Given the description of an element on the screen output the (x, y) to click on. 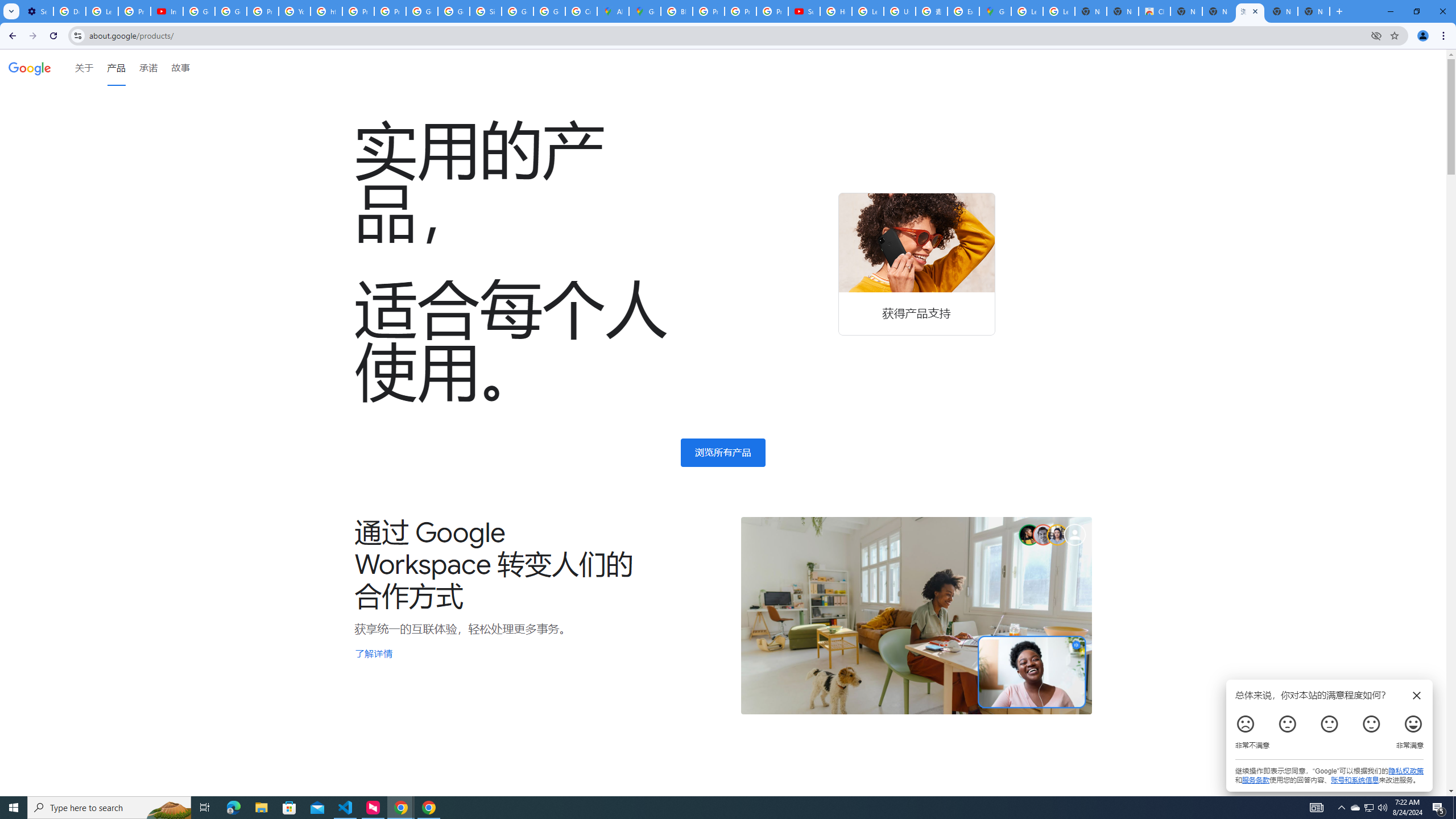
Google Account Help (198, 11)
New Tab (1313, 11)
Explore new street-level details - Google Maps Help (963, 11)
Subscriptions - YouTube (804, 11)
